Given the description of an element on the screen output the (x, y) to click on. 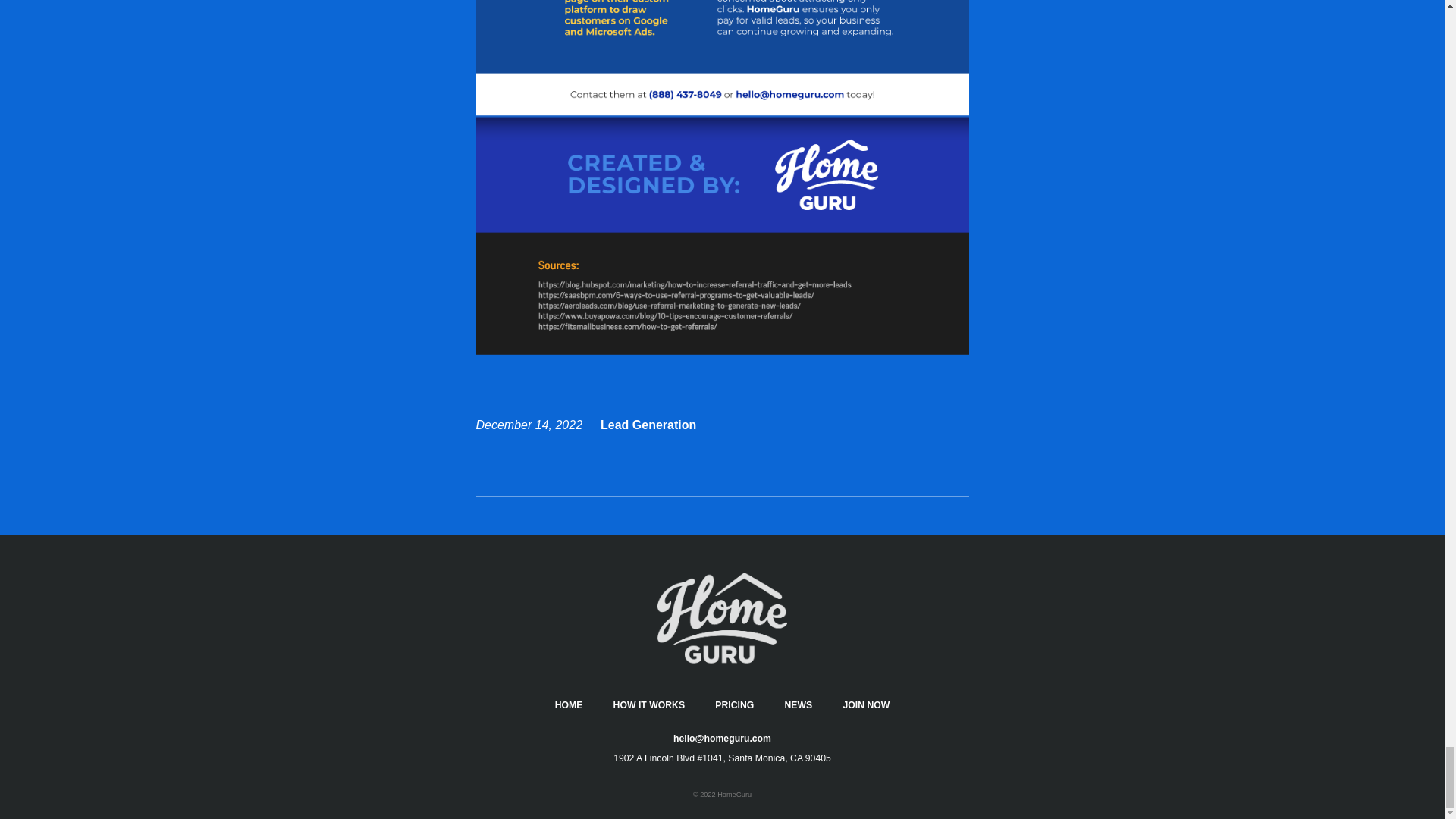
JOIN NOW (866, 705)
PRICING (734, 705)
HOW IT WORKS (648, 705)
Lead Generation (647, 424)
NEWS (798, 705)
HOME (568, 705)
